Given the description of an element on the screen output the (x, y) to click on. 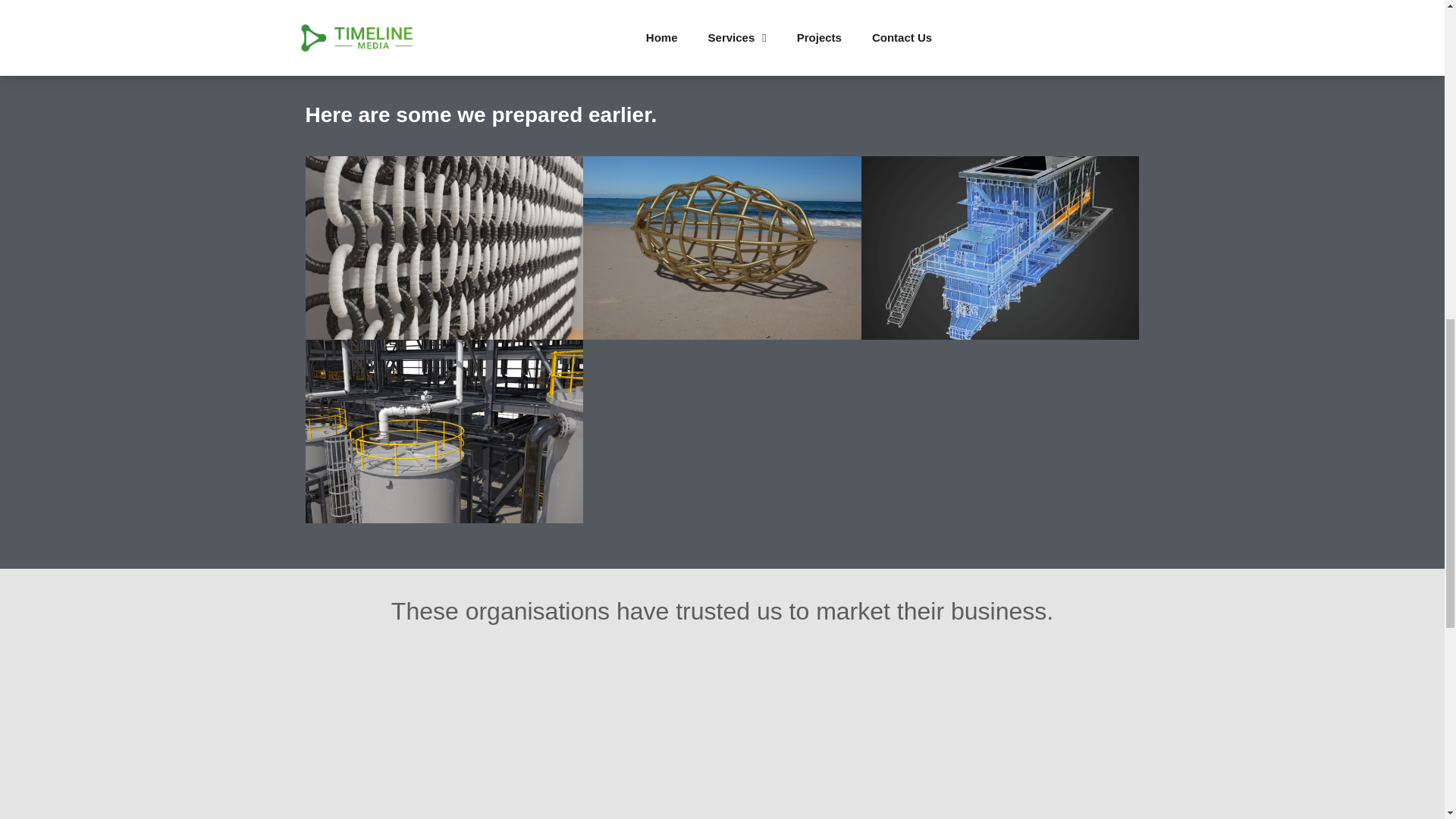
Contact Us (346, 6)
